Given the description of an element on the screen output the (x, y) to click on. 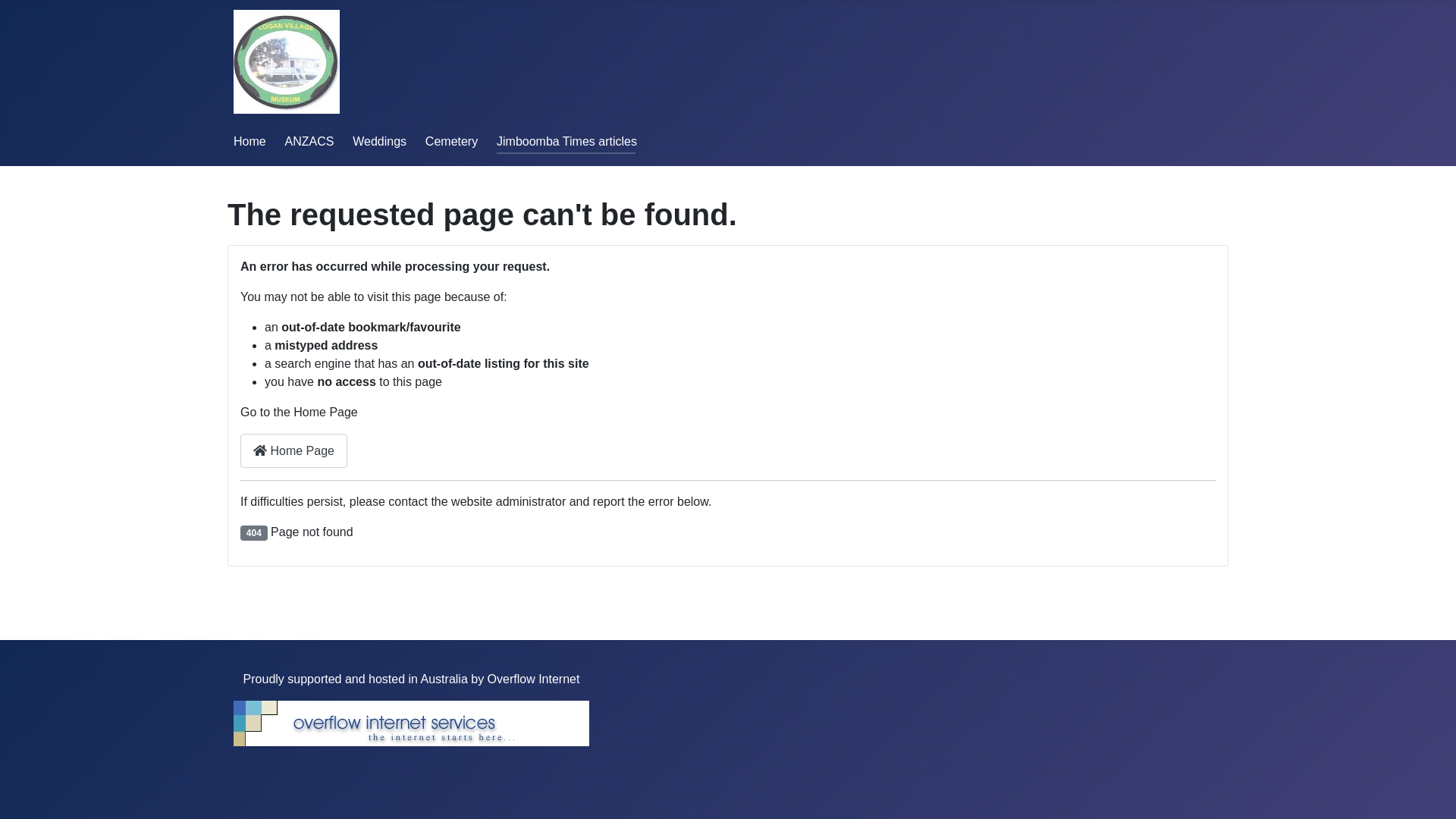
Home Element type: text (249, 140)
ANZACS Element type: text (308, 140)
Cemetery Element type: text (451, 140)
Home Page Element type: text (293, 450)
Jimboomba Times articles Element type: text (566, 140)
Weddings Element type: text (379, 140)
